Given the description of an element on the screen output the (x, y) to click on. 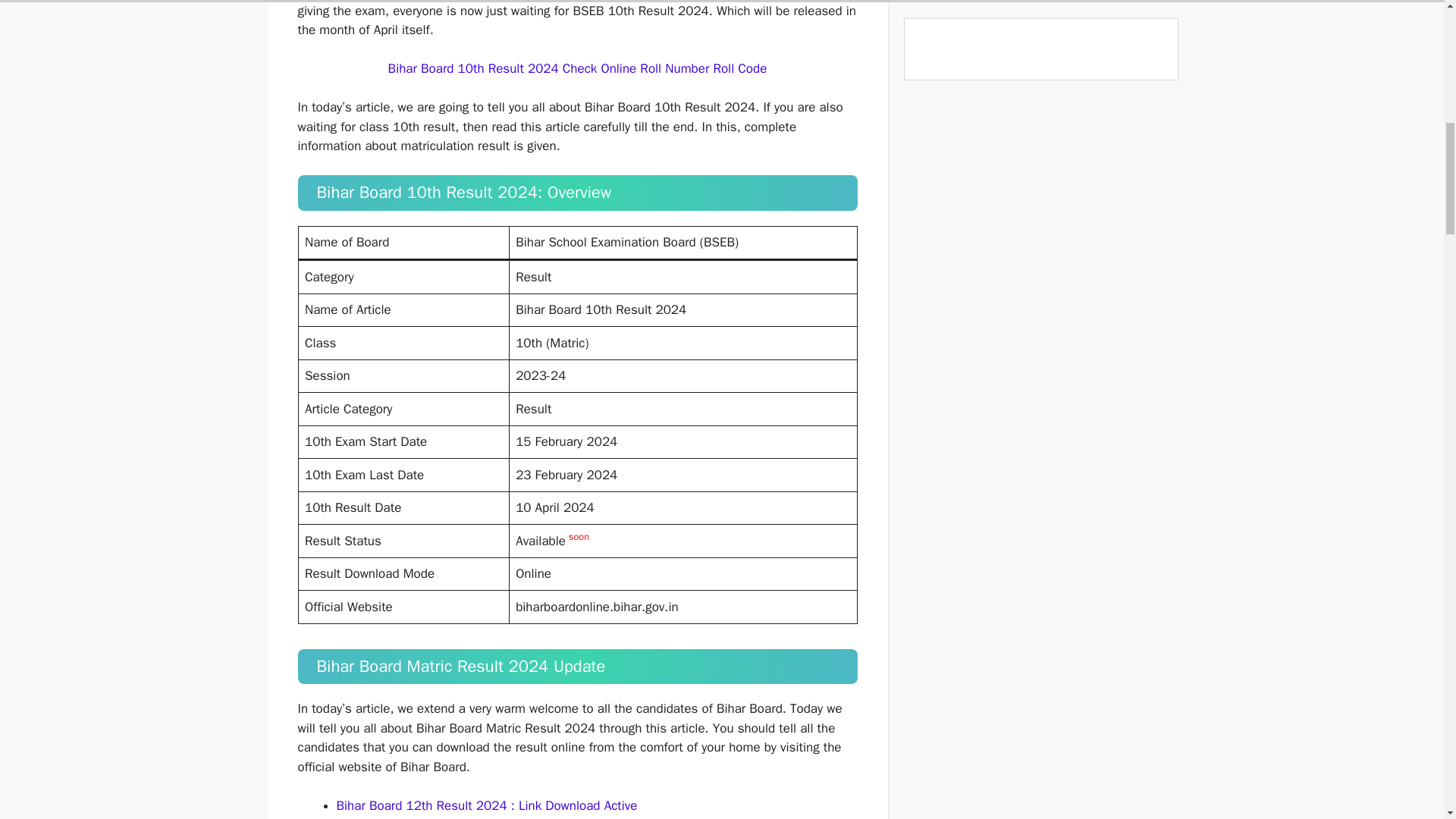
Bihar Board 12th Result 2024 : Link Download Active (486, 805)
